Given the description of an element on the screen output the (x, y) to click on. 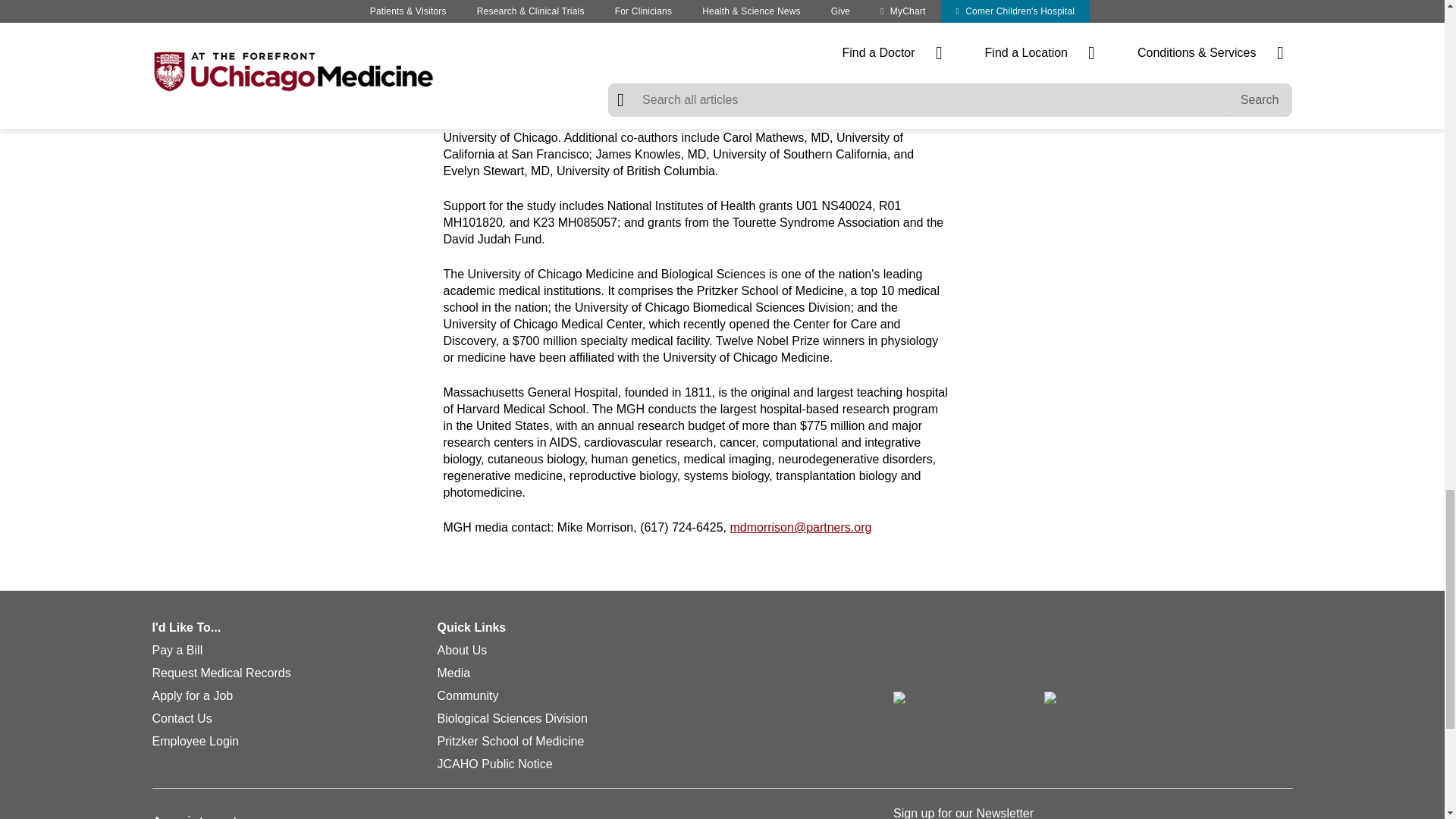
Media (453, 672)
I'd Like To... (293, 629)
Employee Login (194, 741)
Apply for a Job (191, 695)
About Us (461, 650)
Pay a Bill (176, 650)
Quick Links (664, 629)
JCAHO Public Notice (493, 763)
Contact Us (181, 718)
Pritzker School of Medicine (509, 741)
